Given the description of an element on the screen output the (x, y) to click on. 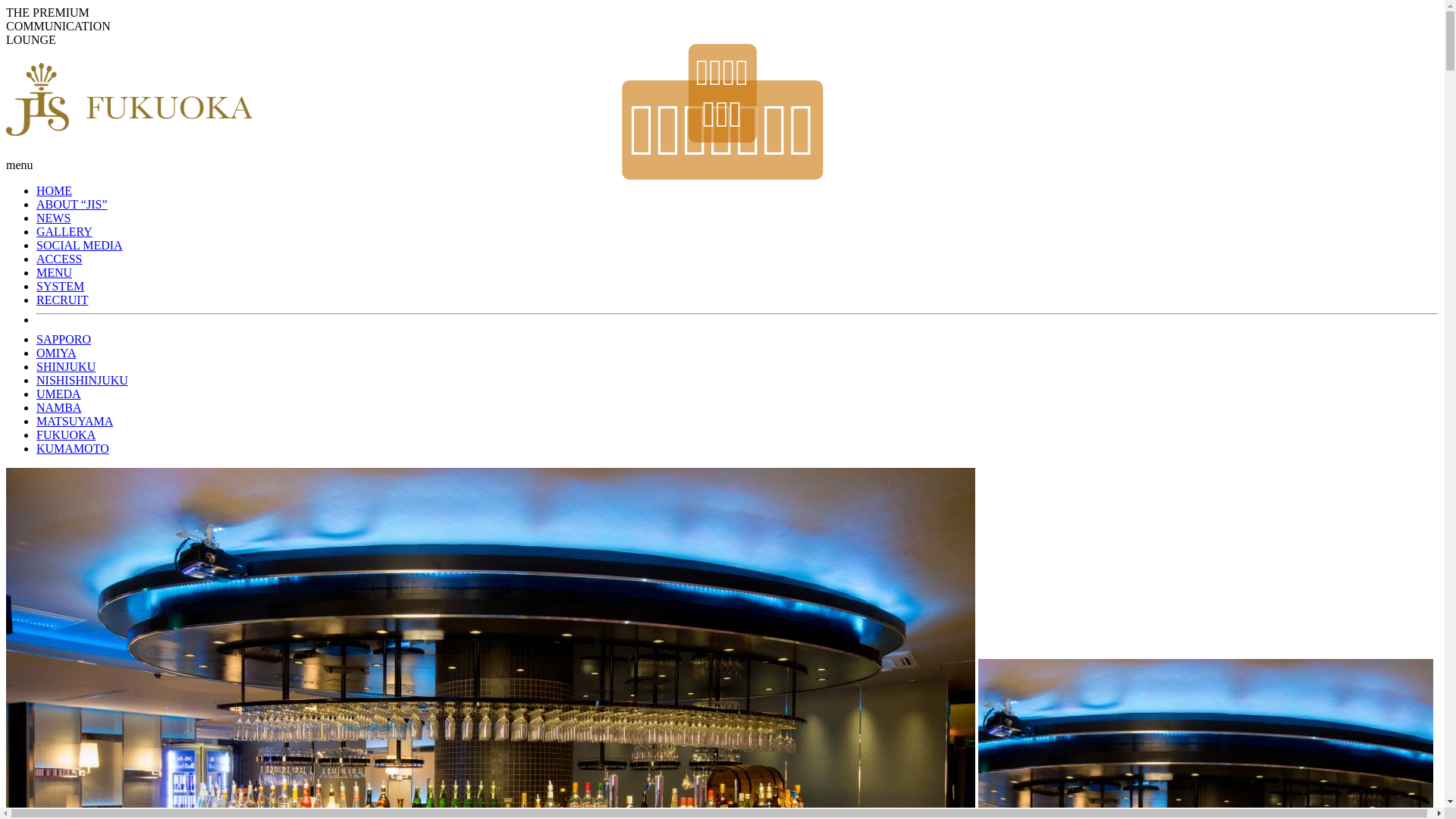
FUKUOKA Element type: text (65, 434)
NEWS Element type: text (53, 217)
MENU Element type: text (54, 272)
OMIYA Element type: text (55, 352)
SOCIAL MEDIA Element type: text (79, 244)
SAPPORO Element type: text (63, 338)
MATSUYAMA Element type: text (74, 420)
SHINJUKU Element type: text (65, 366)
GALLERY Element type: text (64, 231)
KUMAMOTO Element type: text (72, 448)
RECRUIT Element type: text (61, 299)
SYSTEM Element type: text (60, 285)
UMEDA Element type: text (58, 393)
HOME Element type: text (54, 190)
ACCESS Element type: text (58, 258)
NISHISHINJUKU Element type: text (82, 379)
NAMBA Element type: text (58, 407)
